Given the description of an element on the screen output the (x, y) to click on. 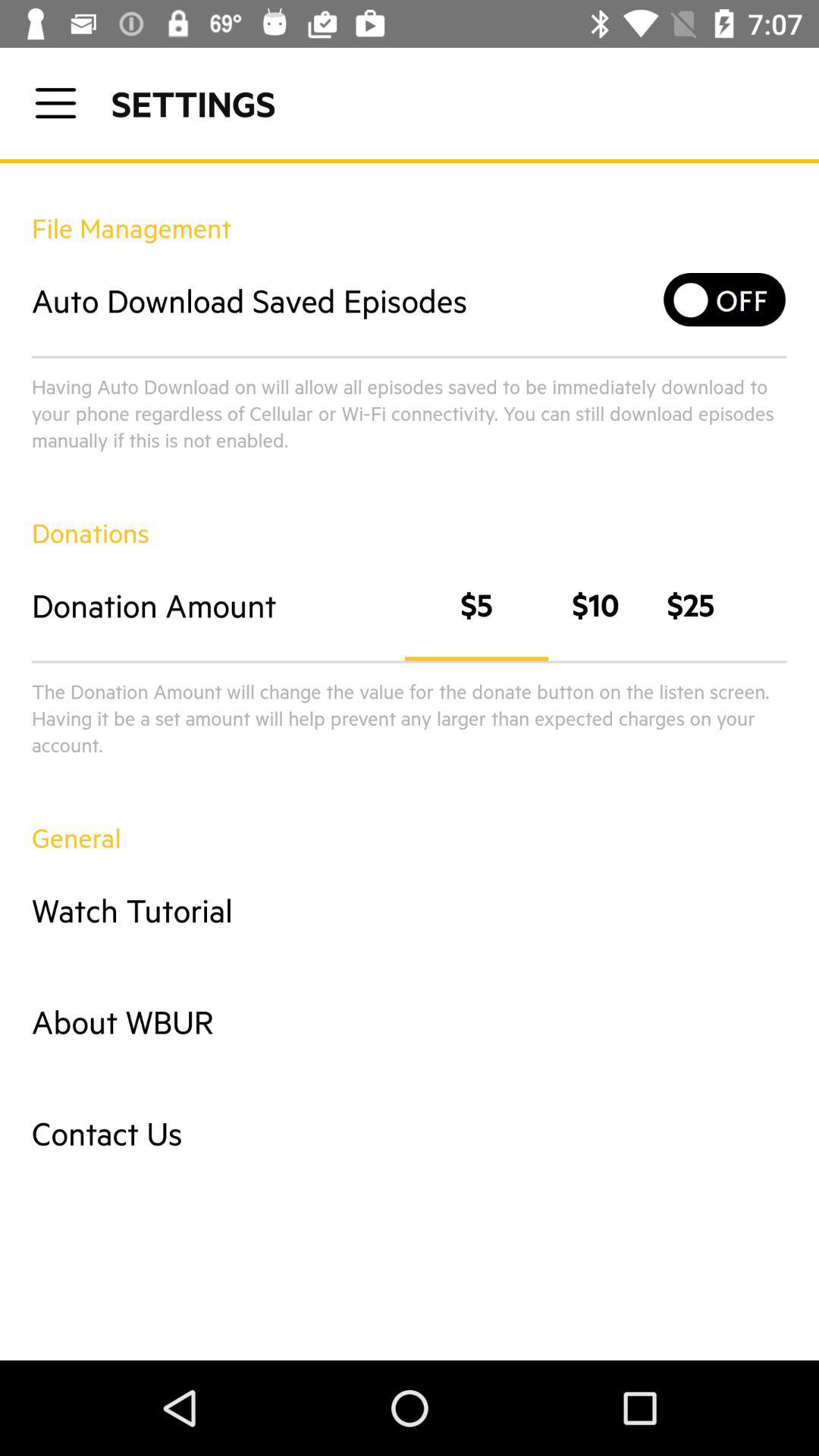
scroll until the about wbur item (409, 1021)
